Given the description of an element on the screen output the (x, y) to click on. 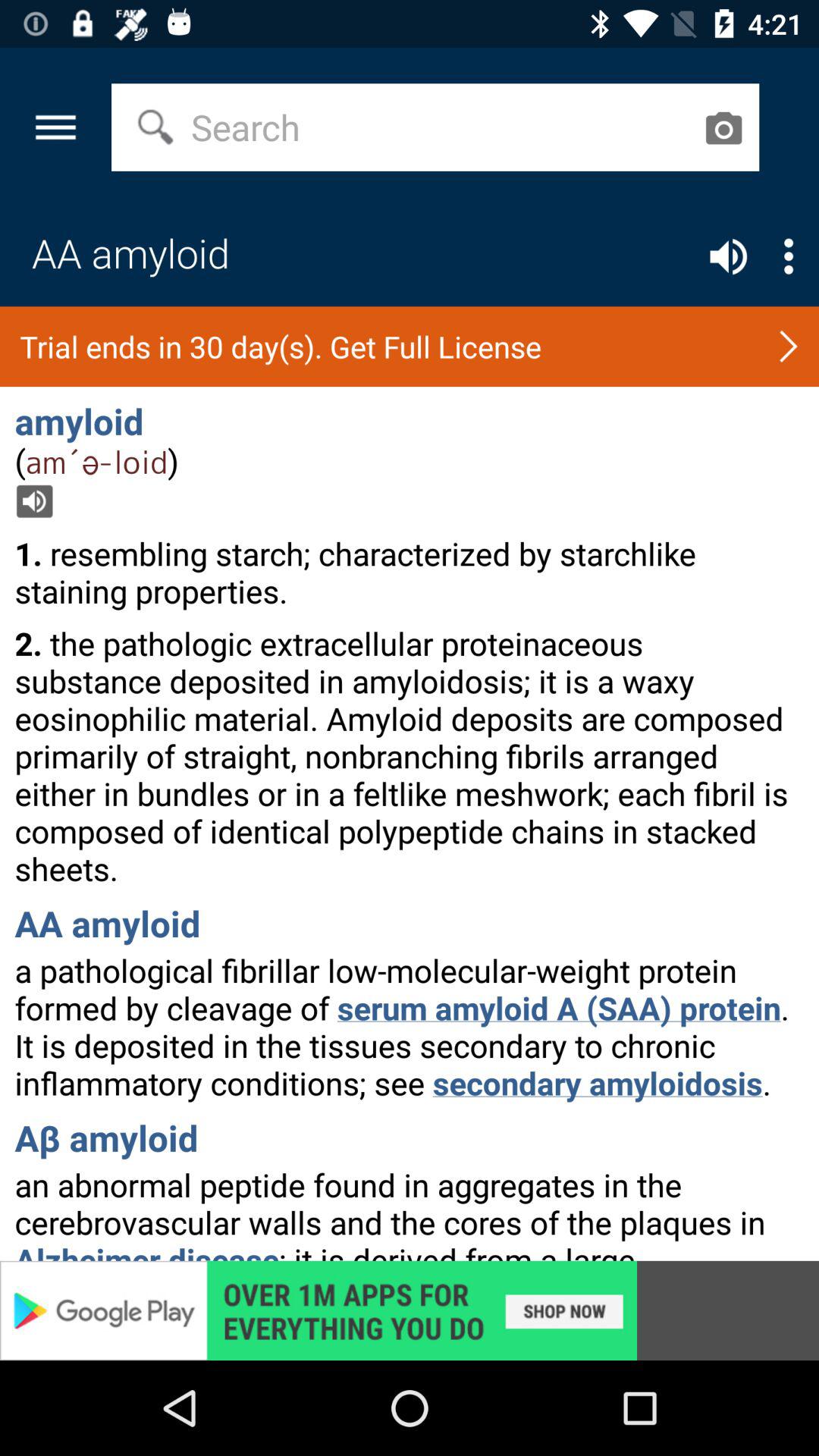
play sound pronunciation (728, 256)
